Given the description of an element on the screen output the (x, y) to click on. 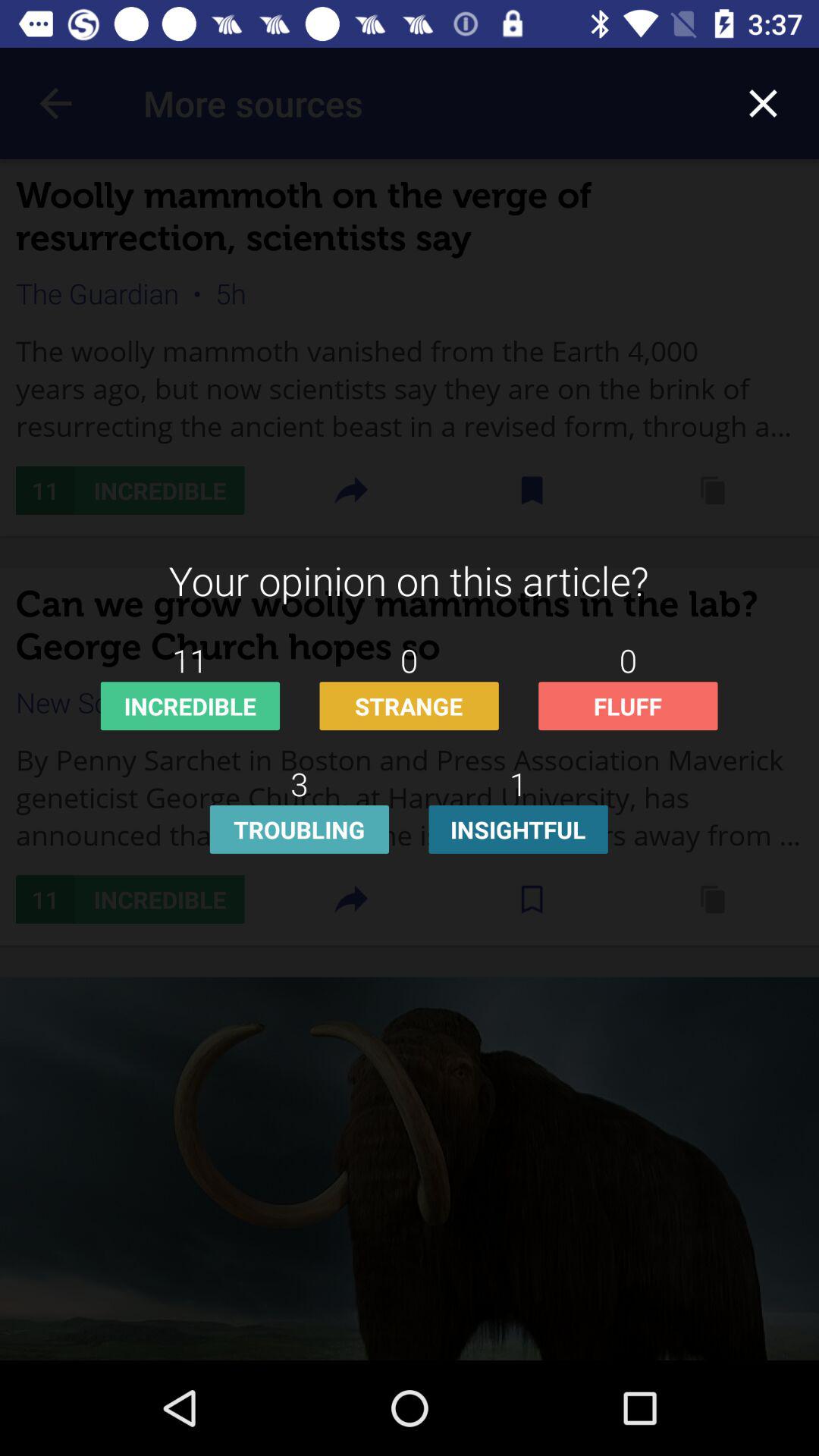
turn off item to the right of more sources item (763, 103)
